Given the description of an element on the screen output the (x, y) to click on. 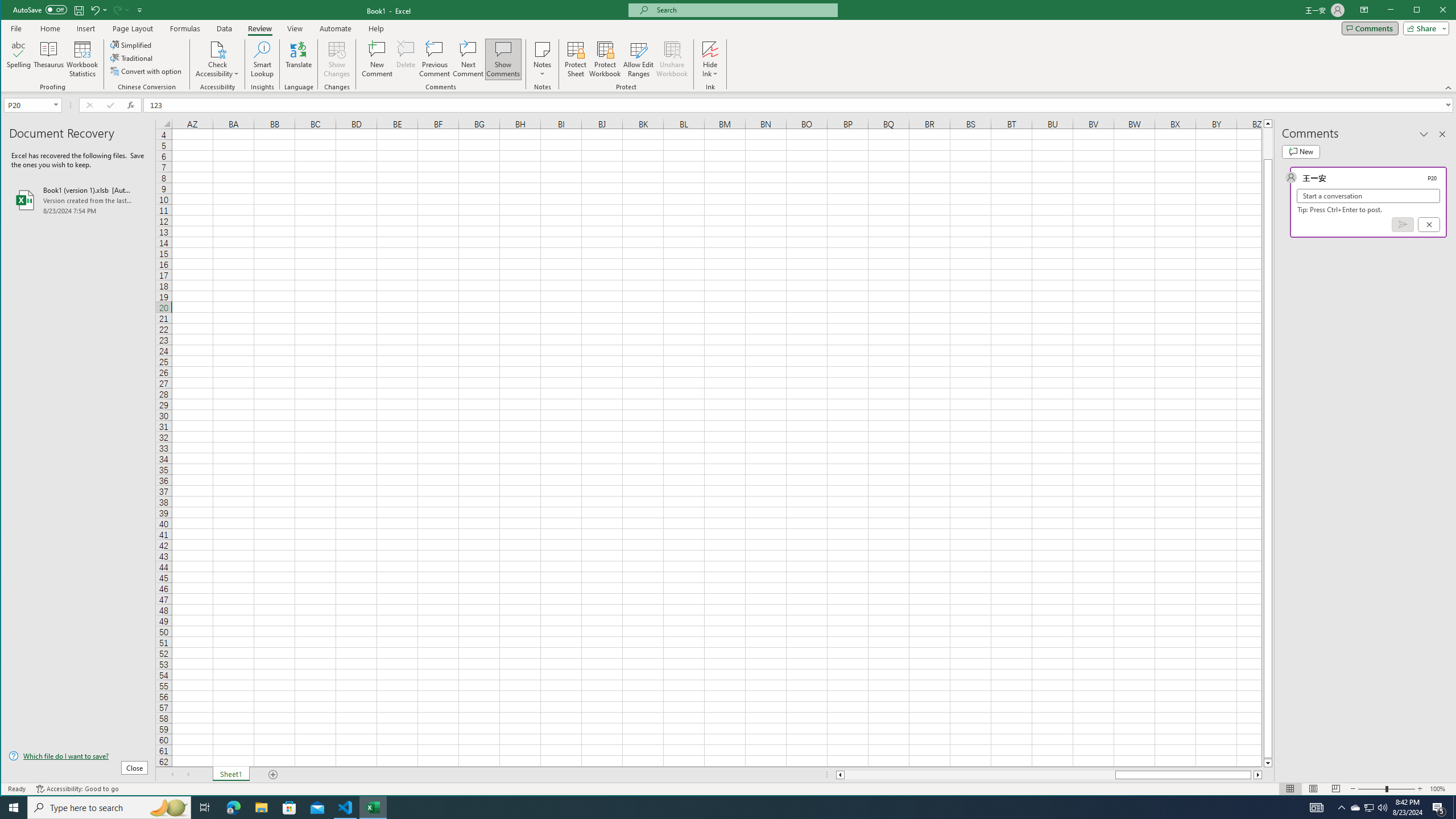
Next Comment (467, 59)
Workbook Statistics (82, 59)
Maximize (1432, 11)
